Given the description of an element on the screen output the (x, y) to click on. 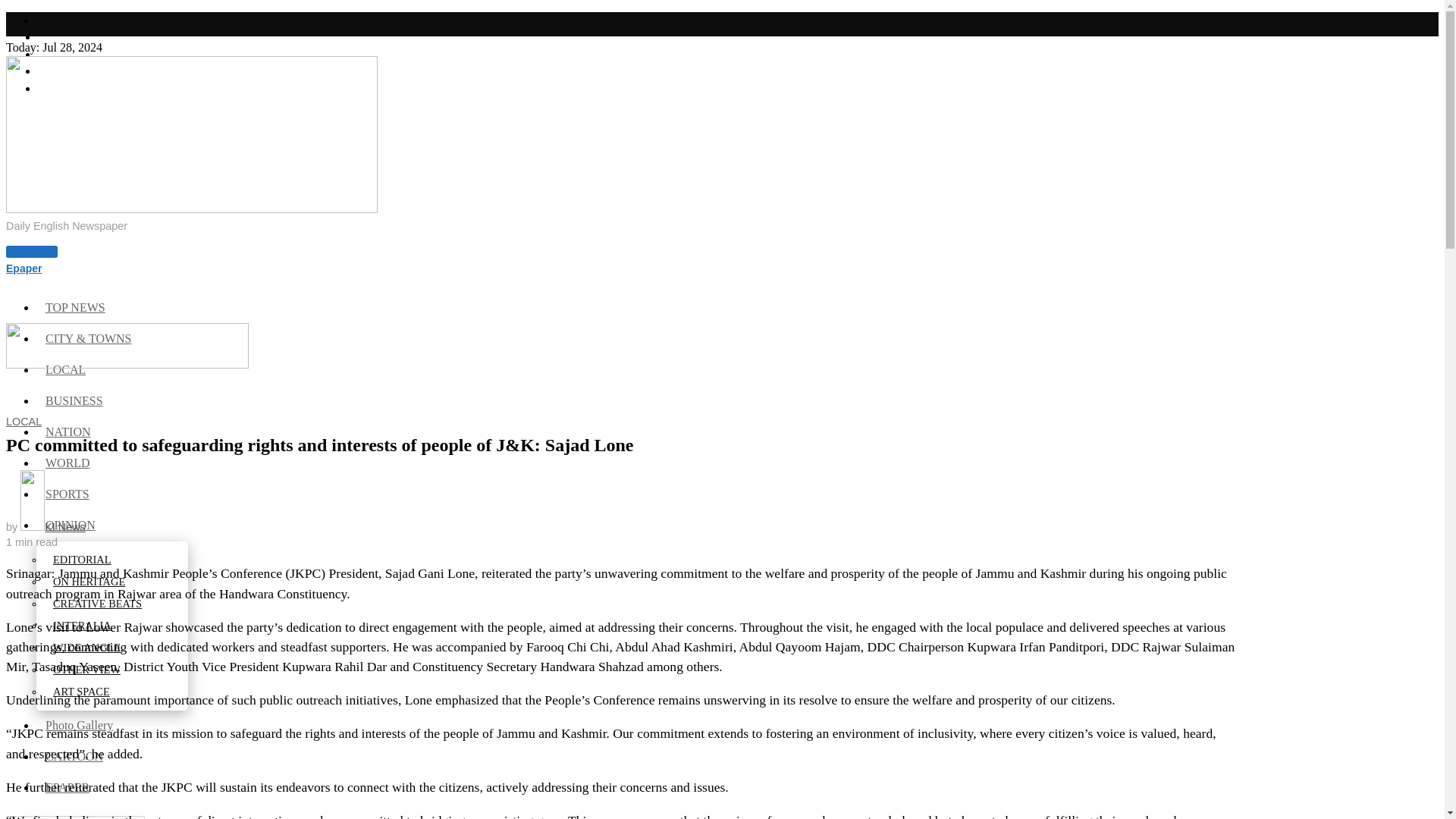
OTHER VIEW (87, 669)
WIDE ANGLE (87, 647)
OPINION (71, 524)
Photo Gallery (79, 725)
ART SPACE (81, 691)
EDITORIAL (82, 559)
KI News (52, 526)
SPORTS (68, 493)
TOP NEWS (76, 307)
BUSINESS (75, 400)
EPAPER (68, 787)
Subscribe (31, 251)
NATION (68, 431)
ON HERITAGE (89, 581)
CREATIVE BEATS (97, 603)
